Given the description of an element on the screen output the (x, y) to click on. 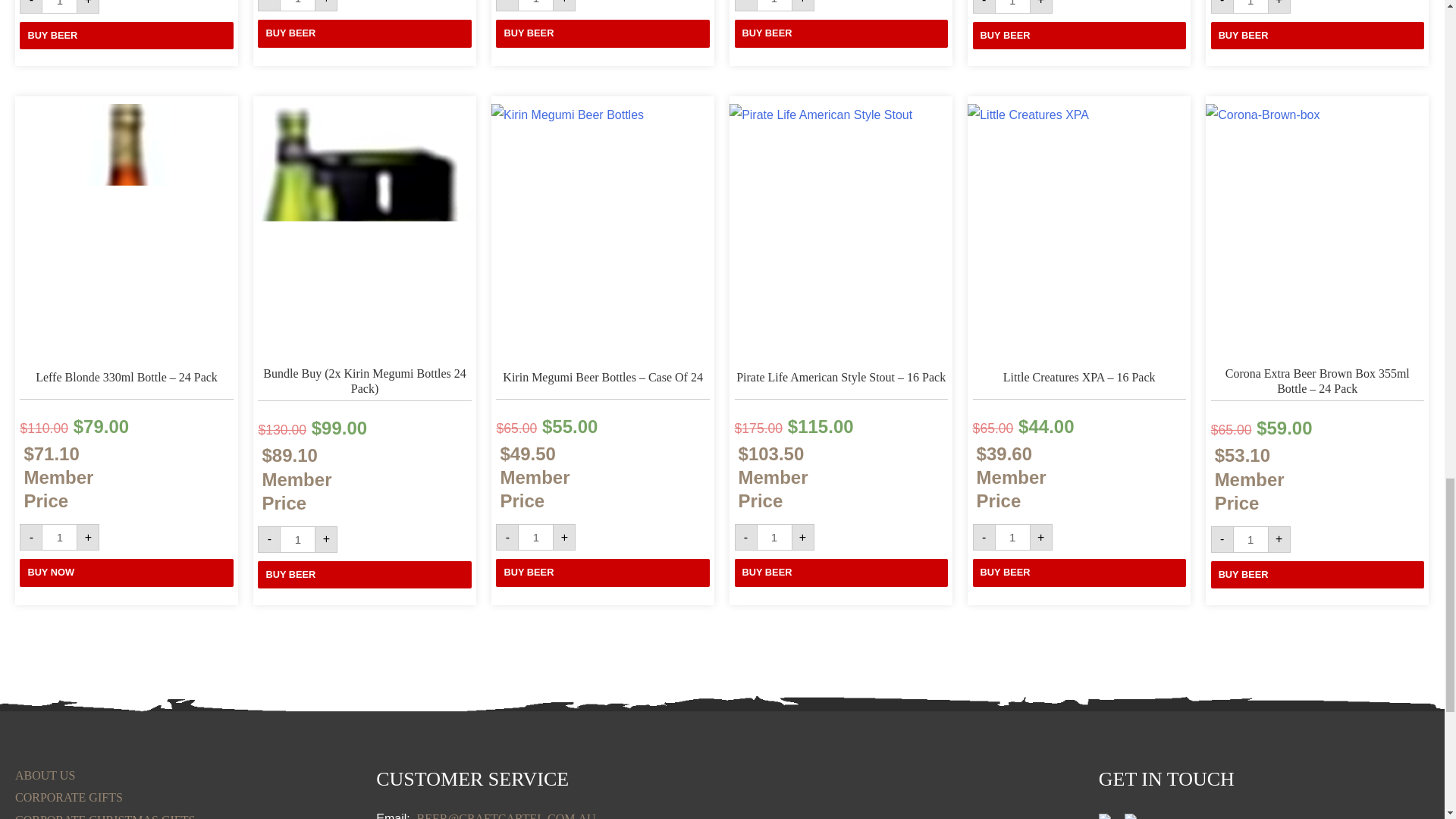
1 (297, 539)
Qty (535, 537)
Qty (1012, 6)
1 (59, 6)
1 (774, 5)
Qty (297, 539)
1 (59, 537)
1 (1012, 6)
Qty (774, 537)
Qty (1250, 6)
